Given the description of an element on the screen output the (x, y) to click on. 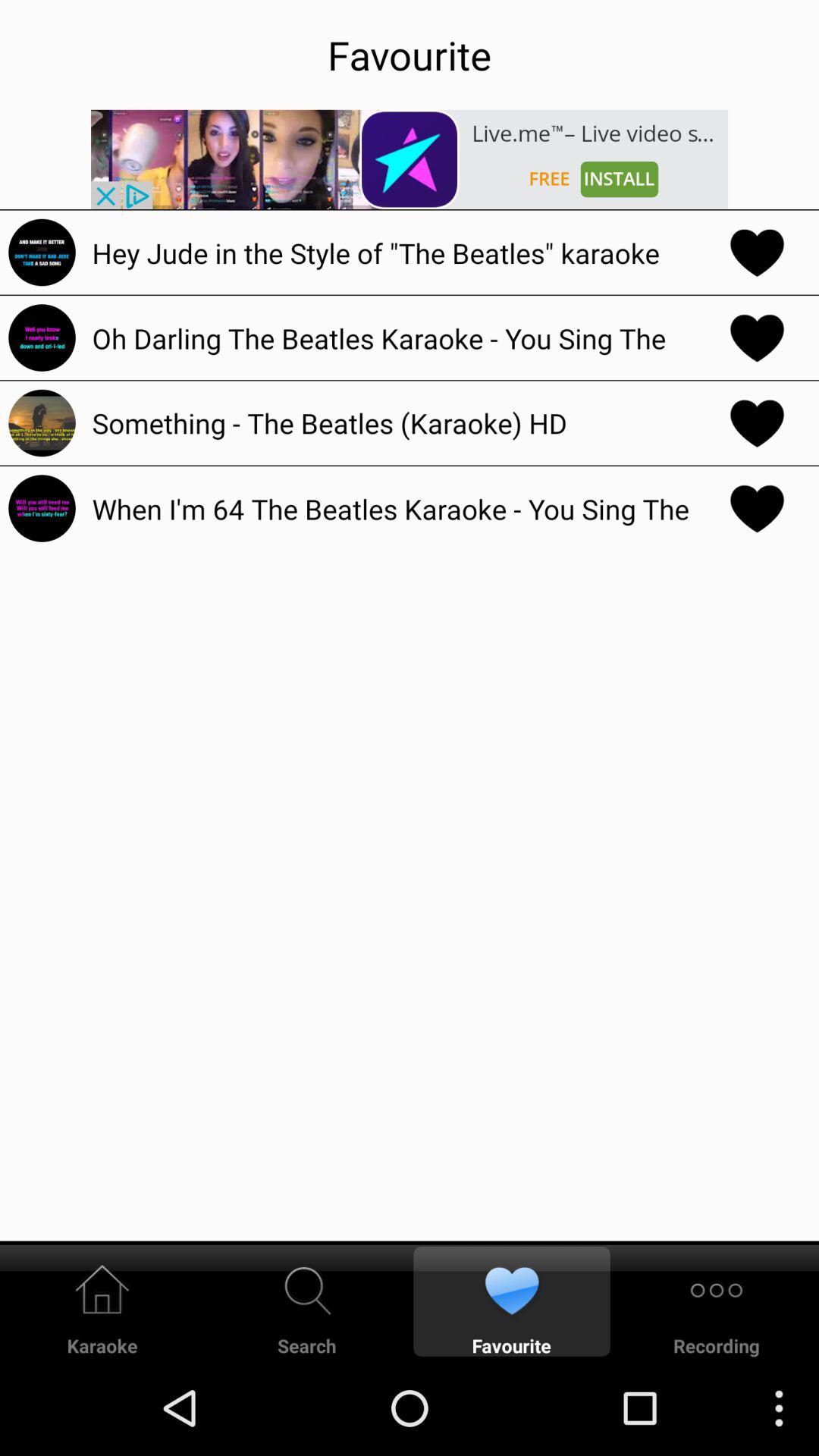
heart the song (756, 337)
